Given the description of an element on the screen output the (x, y) to click on. 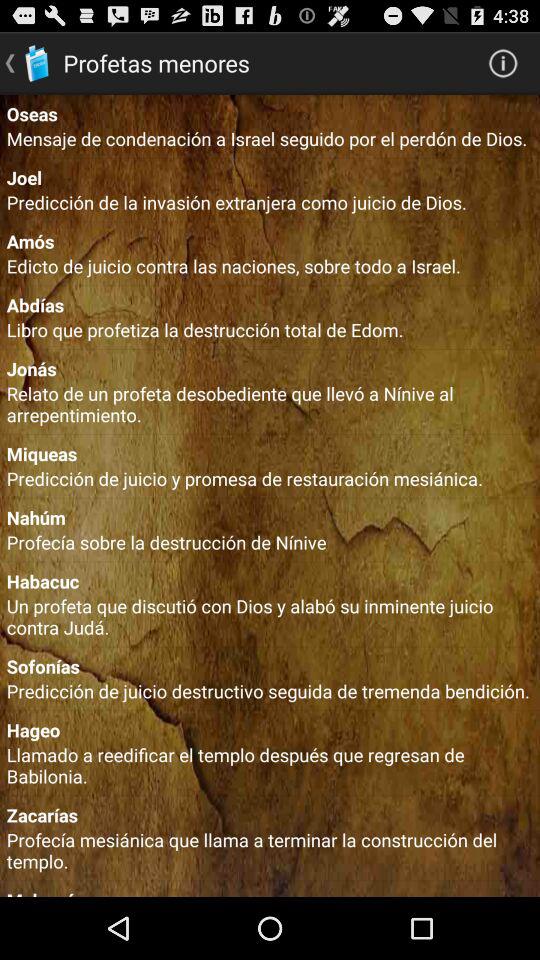
turn off the app above the libro que profetiza app (269, 304)
